Given the description of an element on the screen output the (x, y) to click on. 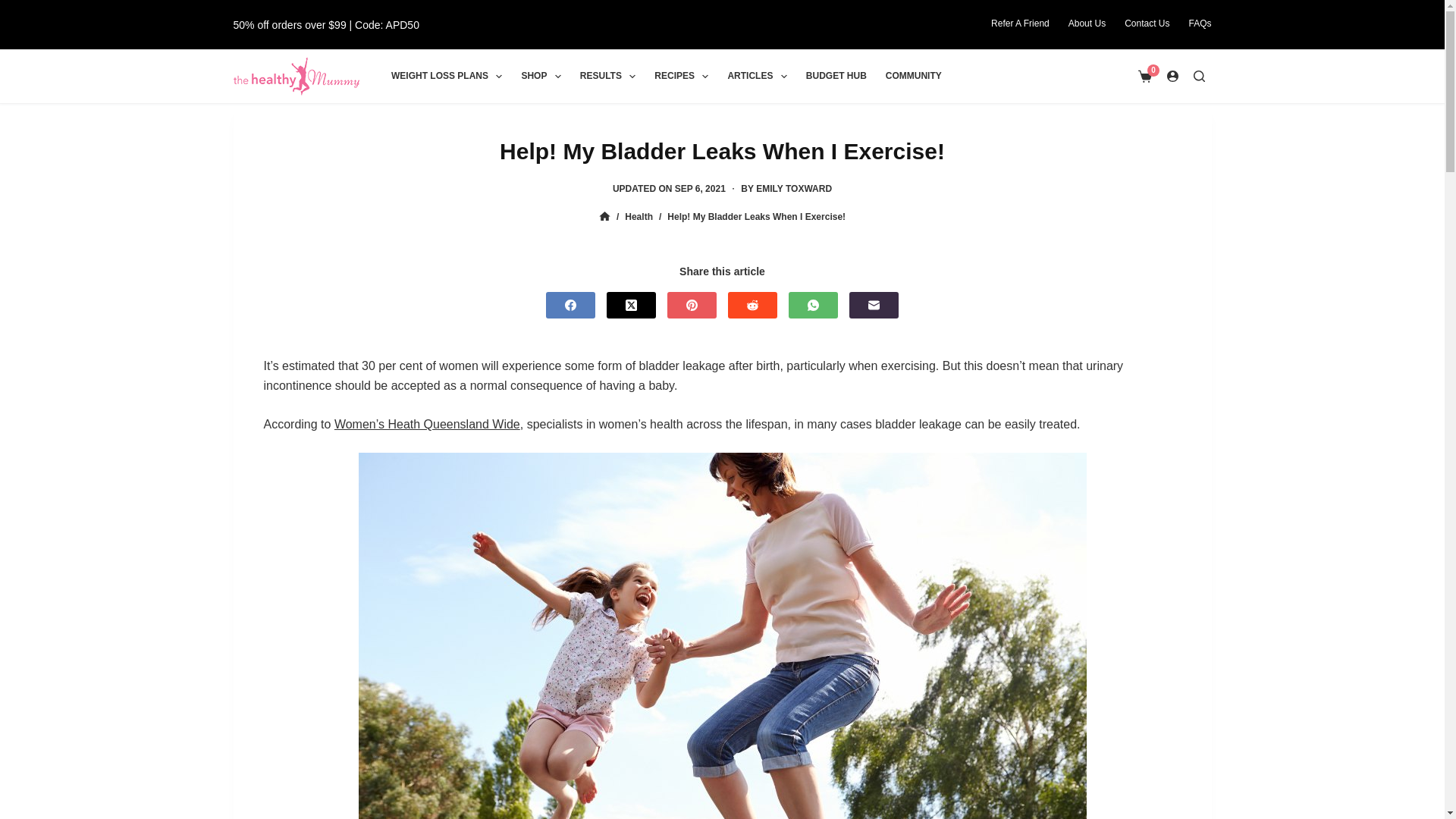
Posts by Emily Toxward (793, 188)
Help! My Bladder Leaks When I Exercise! (721, 150)
Get our offer (325, 23)
Skip to content (15, 7)
